Given the description of an element on the screen output the (x, y) to click on. 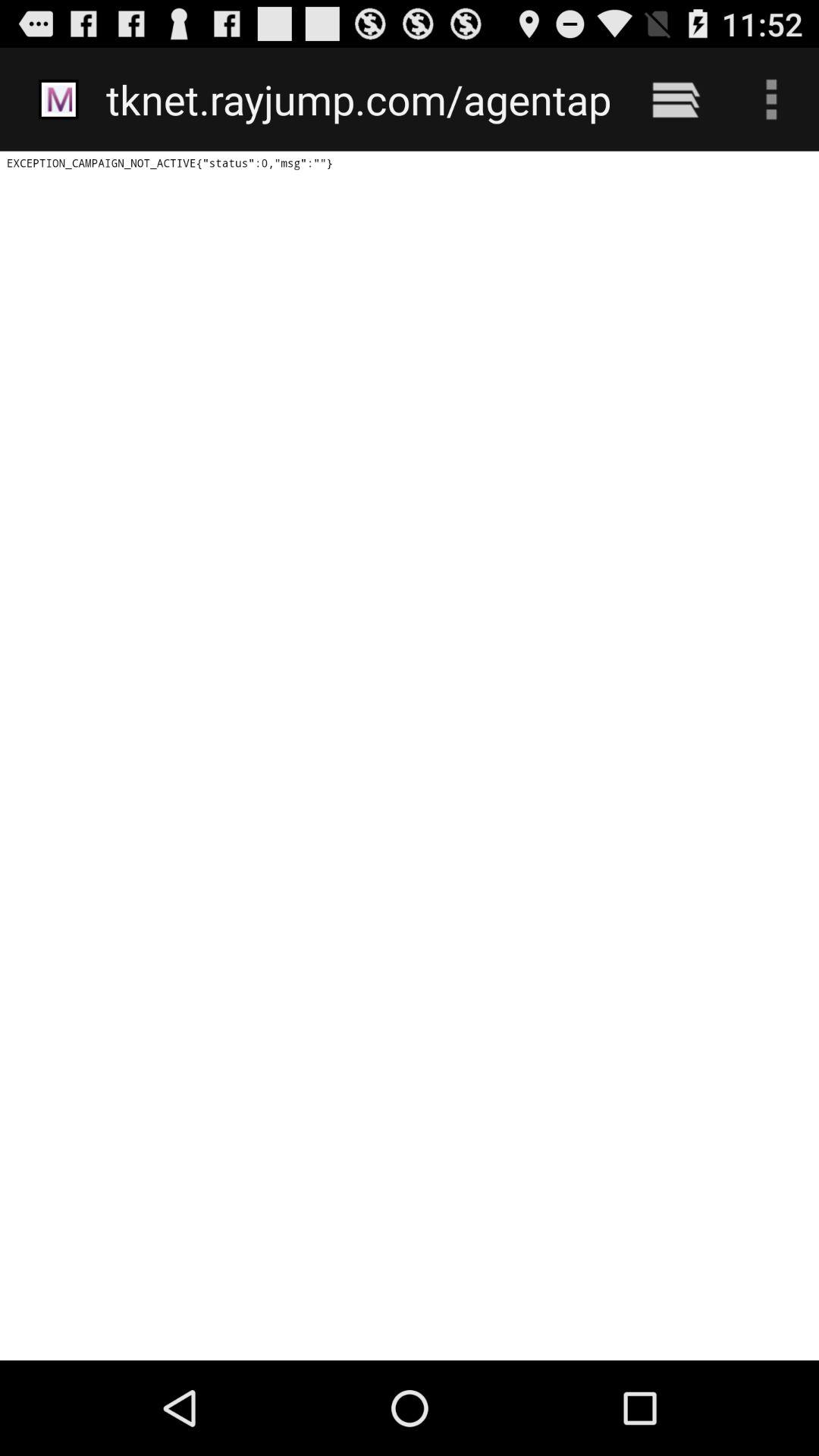
turn on icon at the center (409, 755)
